Given the description of an element on the screen output the (x, y) to click on. 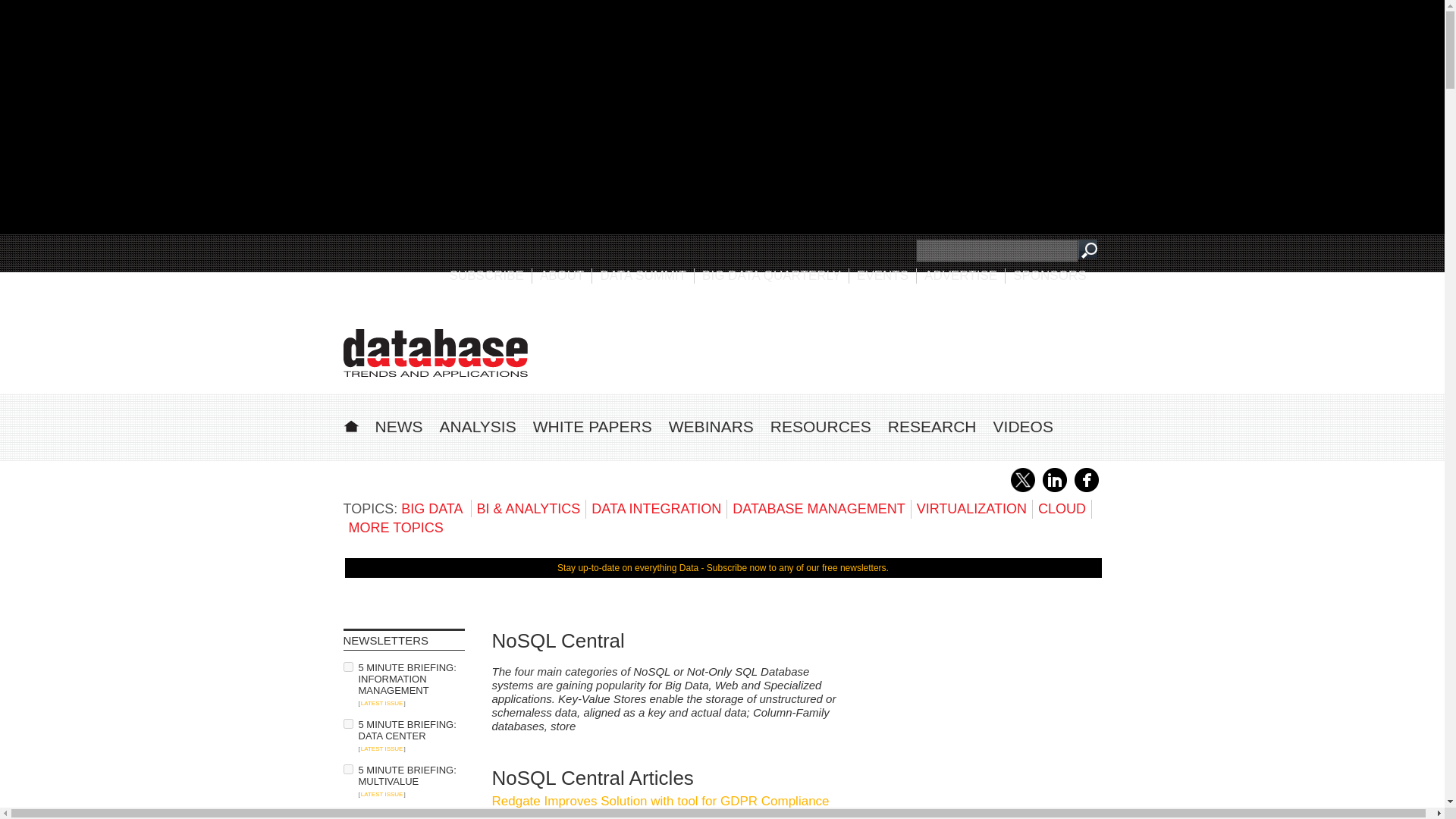
SPONSORS (1049, 275)
RESEARCH (932, 425)
WEBINARS (711, 425)
Database Trends and Applications Home (350, 424)
ANALYSIS (477, 425)
HOME (350, 424)
DBTA (434, 352)
EVENTS (882, 275)
BIG DATA QUARTERLY (771, 275)
DBTA on Facebook (1085, 489)
NEWS (398, 425)
on (347, 666)
DBTA on Twitter (1021, 489)
on (347, 723)
